Given the description of an element on the screen output the (x, y) to click on. 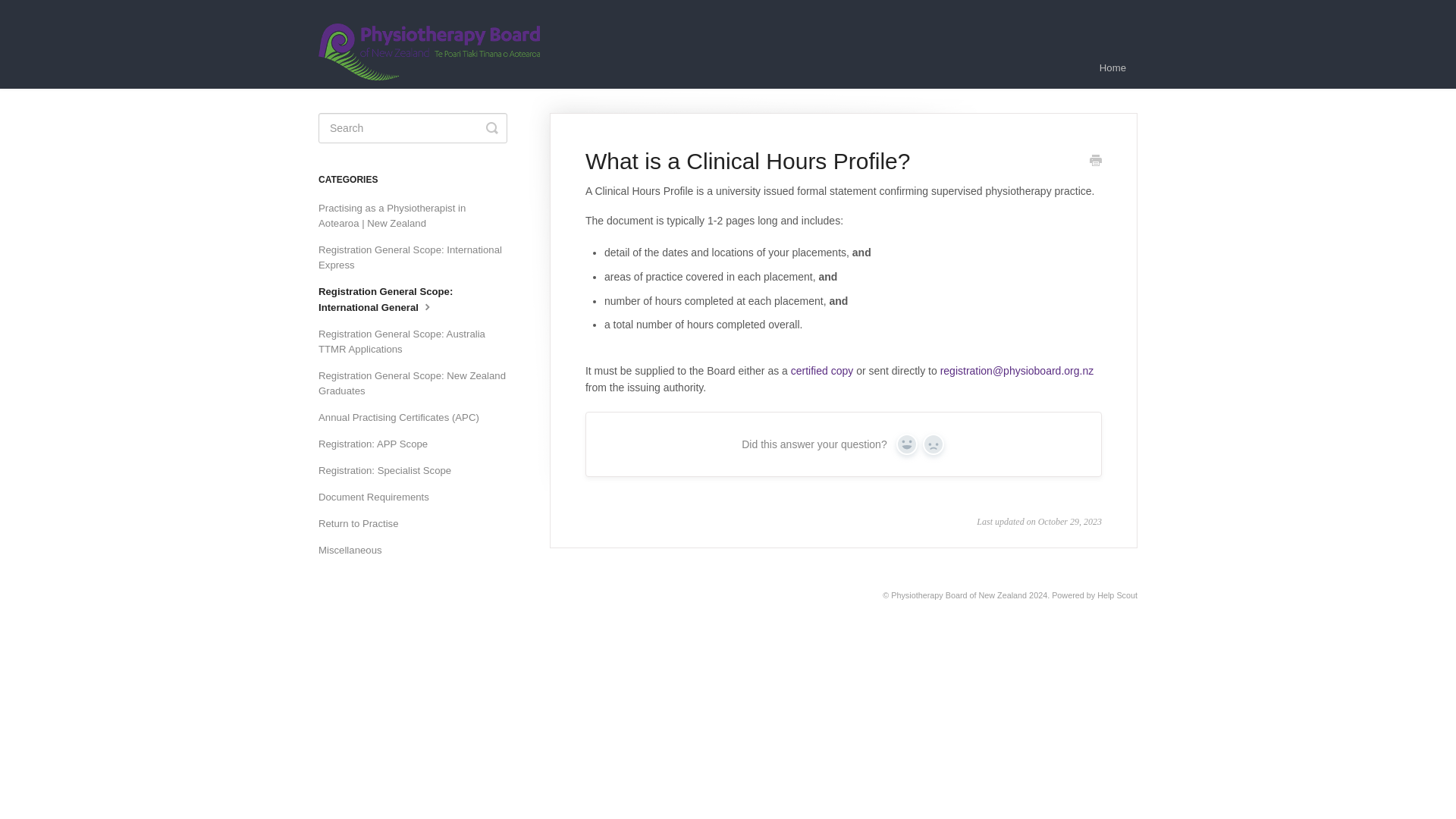
No (933, 444)
Registration General Scope: New Zealand Graduates (418, 383)
Registration: APP Scope (378, 444)
certified copy (821, 370)
search-query (412, 128)
Return to Practise (364, 523)
Physiotherapy Board of New Zealand (958, 594)
Help Scout (1117, 594)
Registration General Scope: International Express (418, 257)
Home (1112, 67)
